Given the description of an element on the screen output the (x, y) to click on. 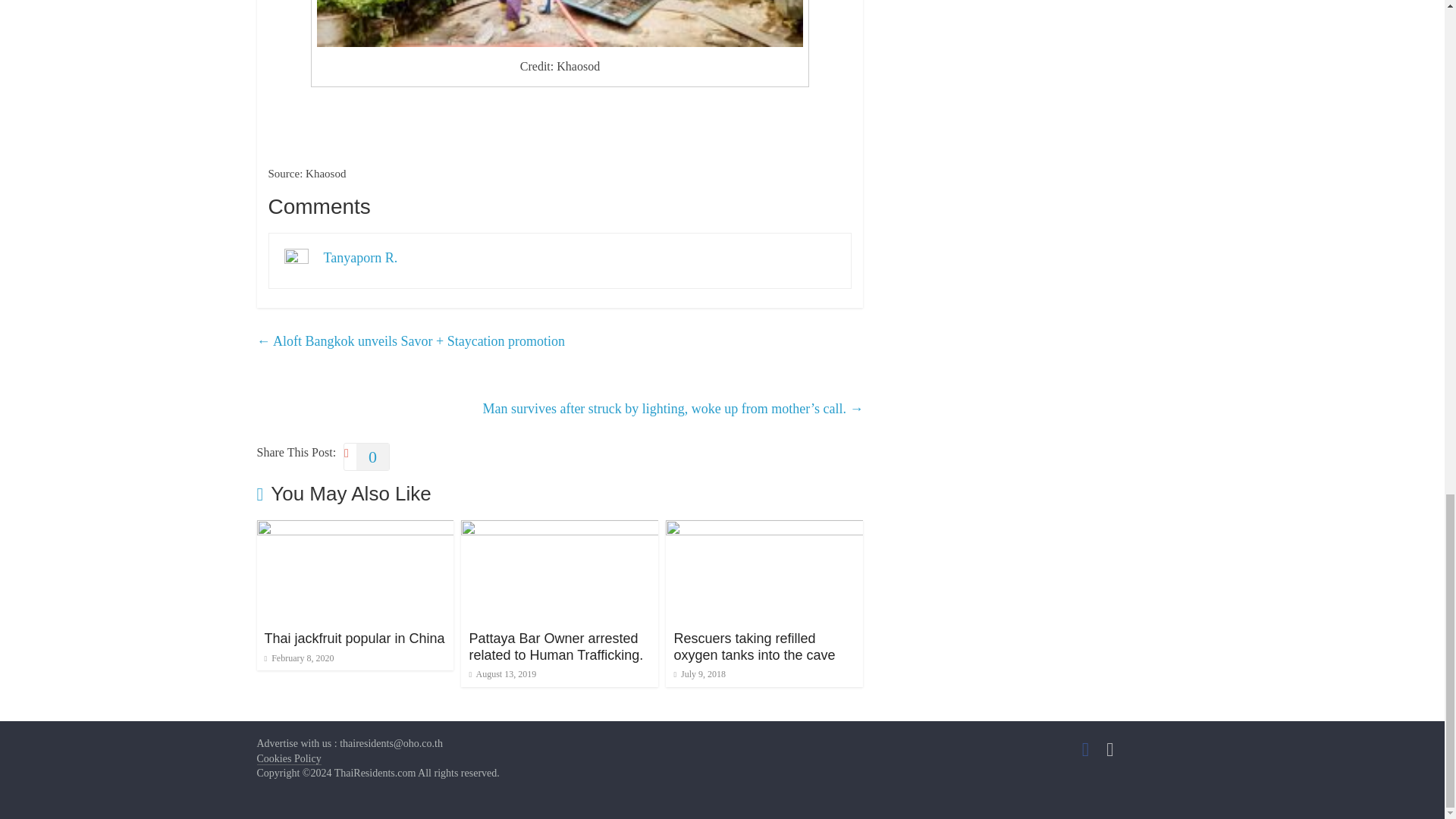
7:53 am (298, 657)
Pattaya Bar Owner arrested related to Human Trafficking. (555, 646)
Pattaya Bar Owner arrested related to Human Trafficking. (559, 529)
12:16 am (501, 674)
Thai jackfruit popular in China (353, 638)
Thai jackfruit popular in China (354, 529)
